Given the description of an element on the screen output the (x, y) to click on. 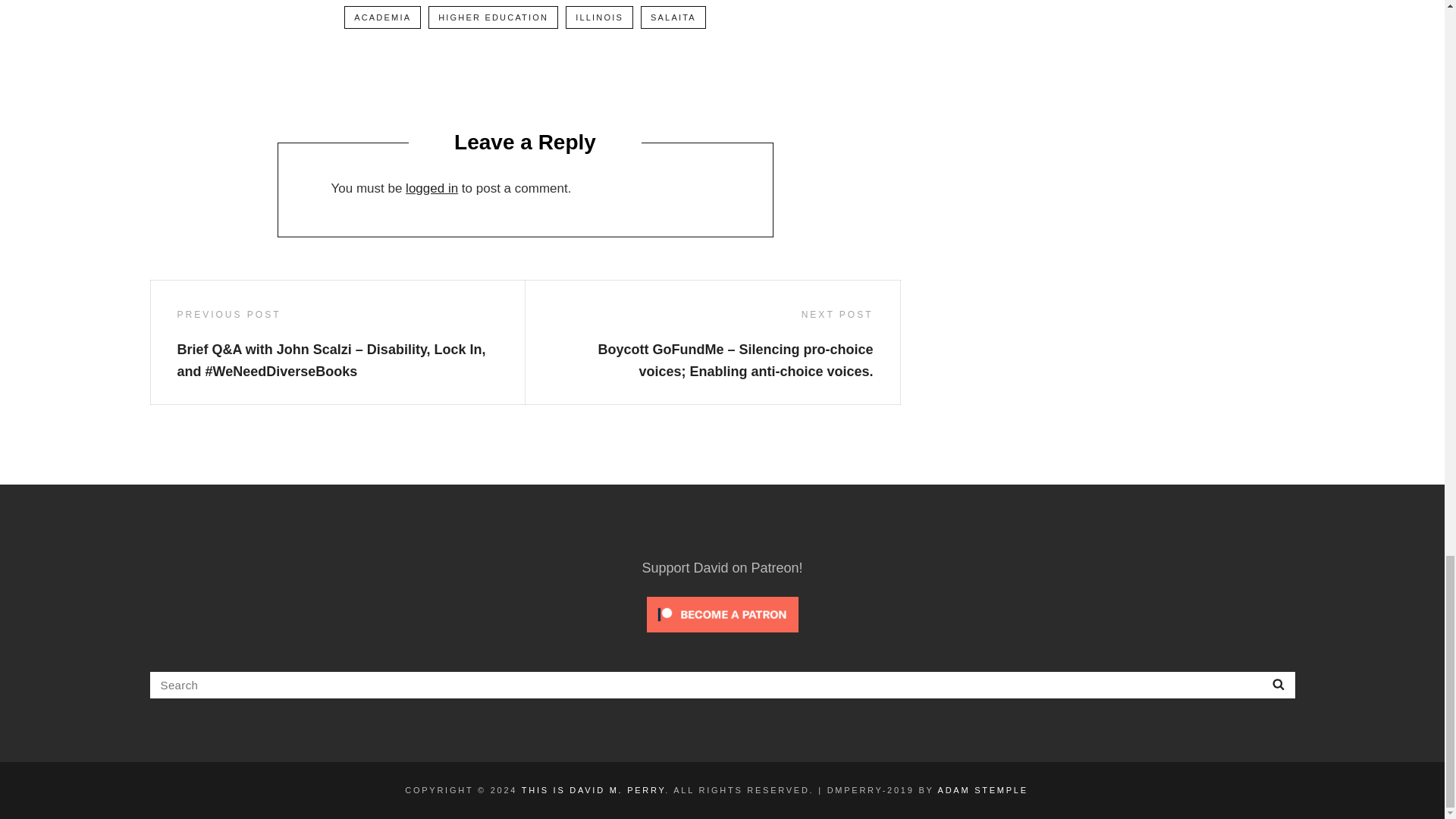
logged in (432, 187)
ACADEMIA (381, 16)
HIGHER EDUCATION (492, 16)
ILLINOIS (599, 16)
SALAITA (673, 16)
